Given the description of an element on the screen output the (x, y) to click on. 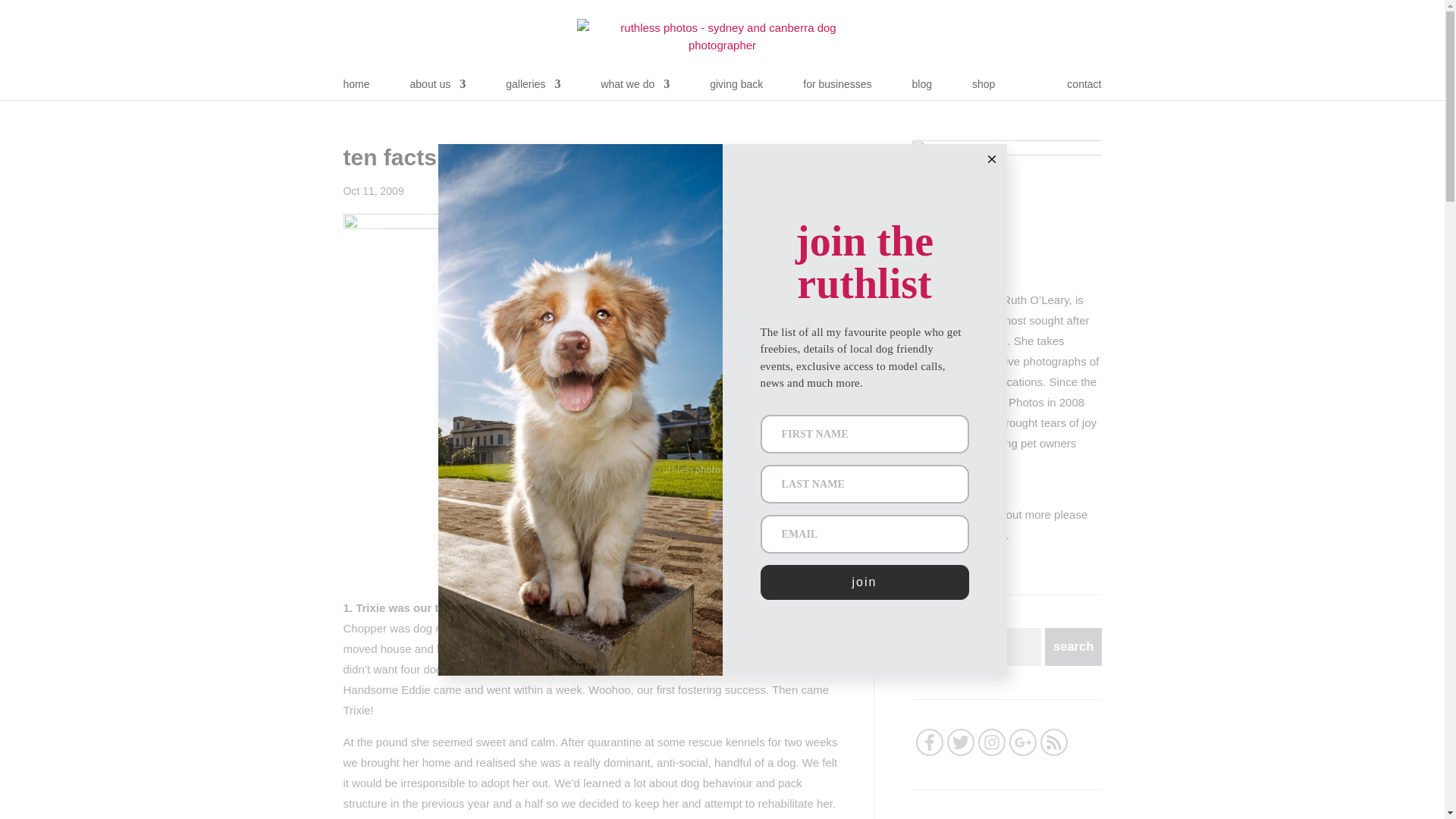
what we do (634, 88)
contact (1083, 88)
blog (921, 88)
shop (983, 88)
home (355, 88)
giving back (736, 88)
about us (437, 88)
Search (1070, 646)
for businesses (836, 88)
galleries (532, 88)
